Given the description of an element on the screen output the (x, y) to click on. 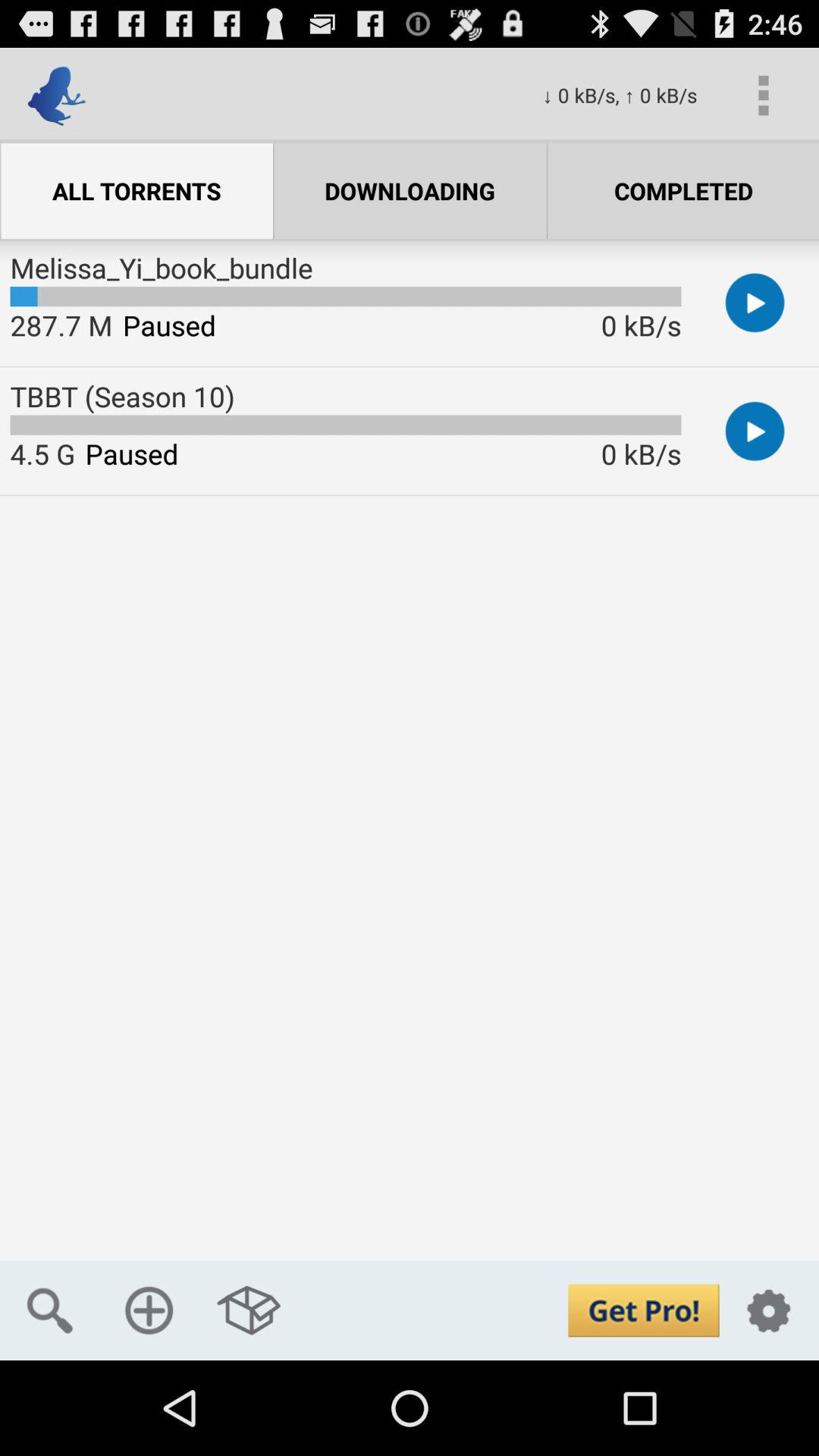
press the icon below paused icon (248, 1310)
